Given the description of an element on the screen output the (x, y) to click on. 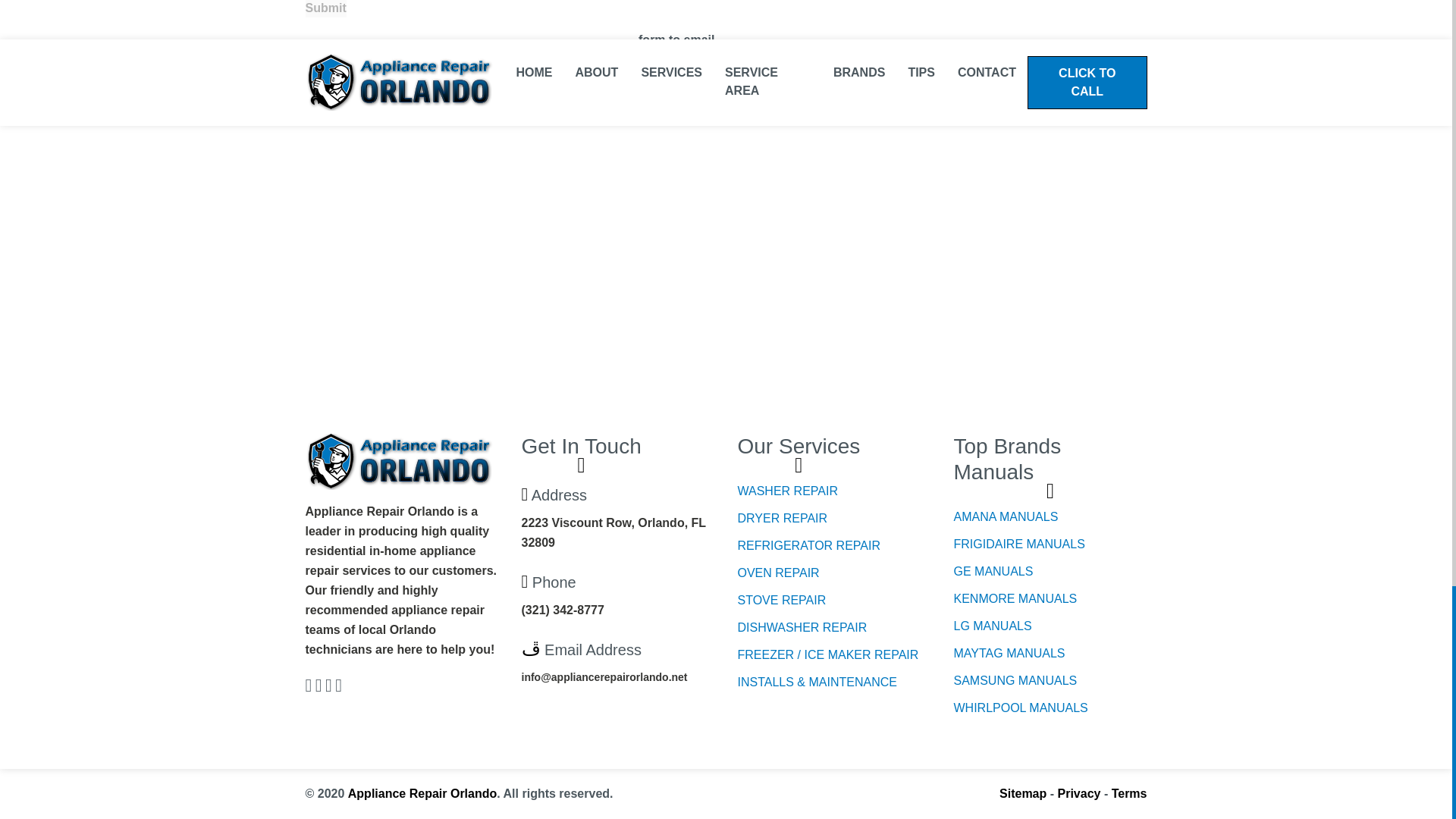
form to email (676, 39)
Submit (325, 8)
form to email (676, 39)
Submit (325, 8)
